Given the description of an element on the screen output the (x, y) to click on. 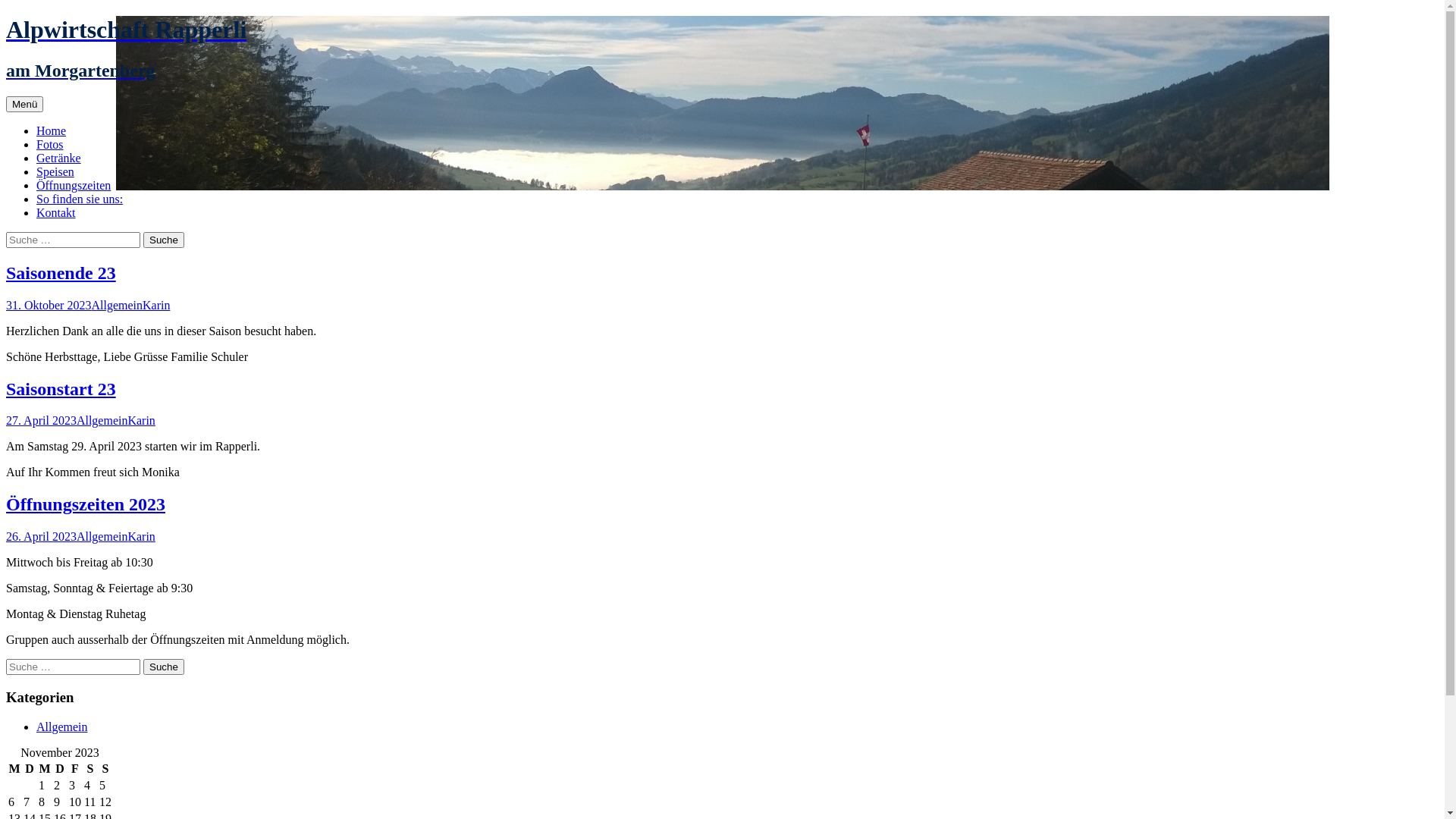
26. April 2023 Element type: text (41, 536)
Karin Element type: text (140, 536)
Suche Element type: text (163, 239)
31. Oktober 2023 Element type: text (48, 304)
27. April 2023 Element type: text (41, 420)
Karin Element type: text (140, 420)
Fotos Element type: text (49, 144)
Allgemein Element type: text (61, 726)
Allgemein Element type: text (102, 420)
Karin Element type: text (155, 304)
Home Element type: text (50, 130)
Suche Element type: text (163, 666)
Kontakt Element type: text (55, 212)
Speisen Element type: text (55, 171)
Saisonstart 23 Element type: text (61, 388)
Zum Inhalt springen Element type: text (42, 95)
Allgemein Element type: text (102, 536)
Alpwirtschaft Rapperli
am Morgartenberg Element type: text (722, 47)
Allgemein Element type: text (116, 304)
Saisonende 23 Element type: text (61, 272)
So finden sie uns: Element type: text (79, 198)
